Given the description of an element on the screen output the (x, y) to click on. 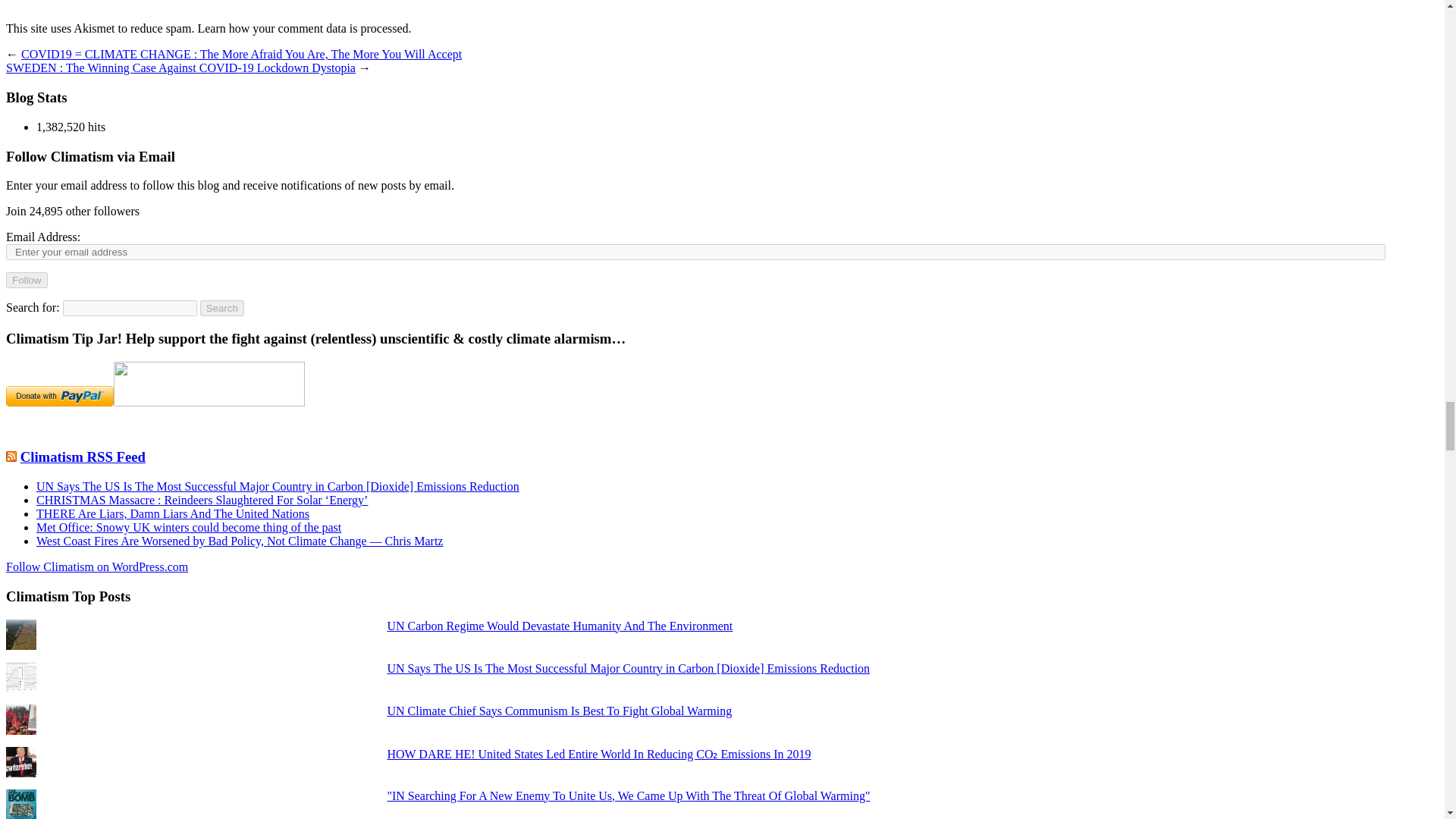
Search (222, 308)
Tracking Anthropogenic Climate Alarmism (82, 456)
